Given the description of an element on the screen output the (x, y) to click on. 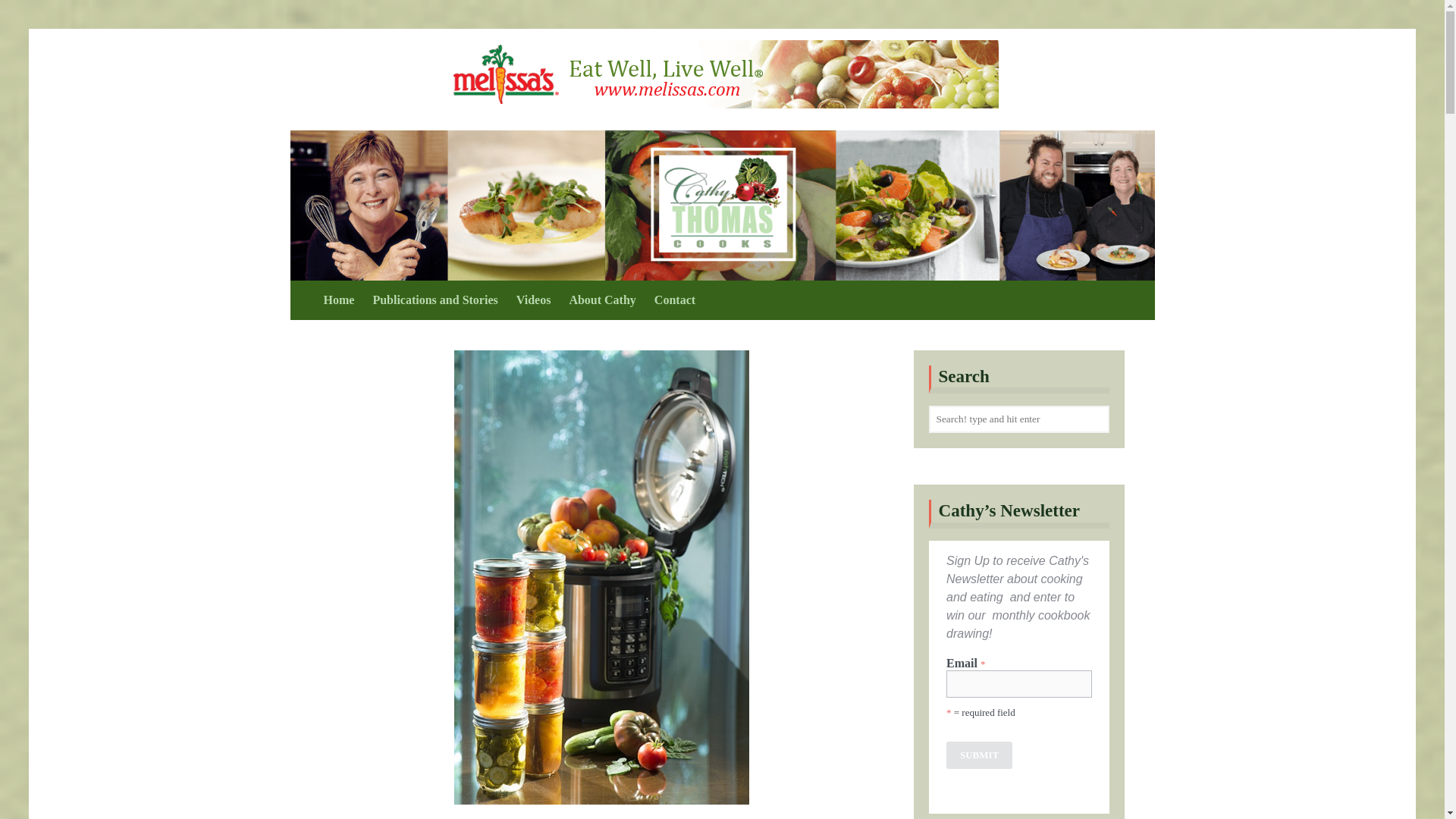
Home (328, 300)
Publications and Stories (425, 300)
Videos (524, 300)
About Cathy (592, 300)
Contact (665, 300)
